Given the description of an element on the screen output the (x, y) to click on. 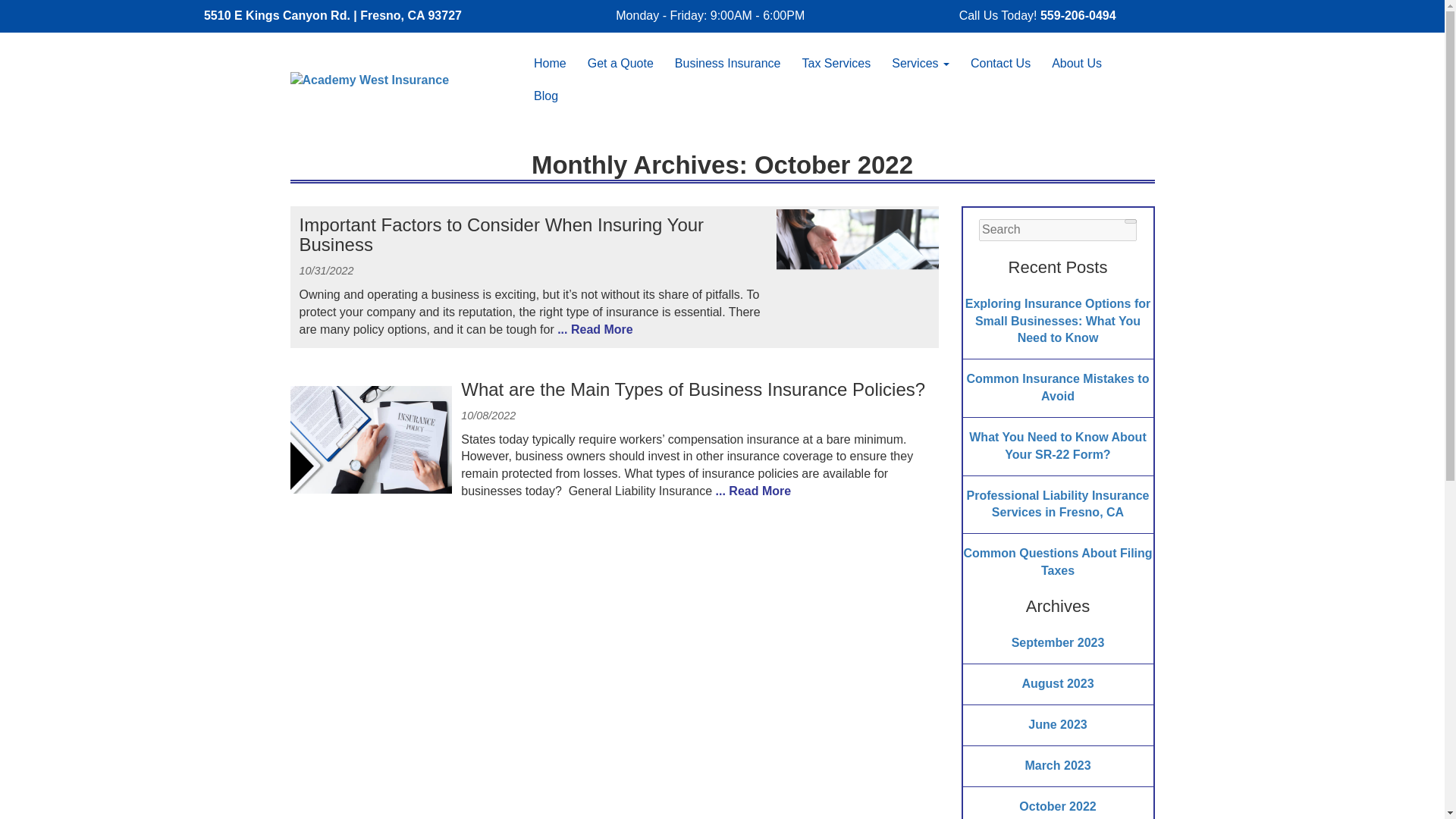
Home (550, 63)
Call Us (1078, 15)
... Read More (593, 328)
About Us (1076, 63)
September 2023 (1058, 642)
Business Insurance (727, 63)
559-206-0494 (1078, 15)
Search (1130, 221)
Services (920, 63)
Get a Quote (620, 63)
